Given the description of an element on the screen output the (x, y) to click on. 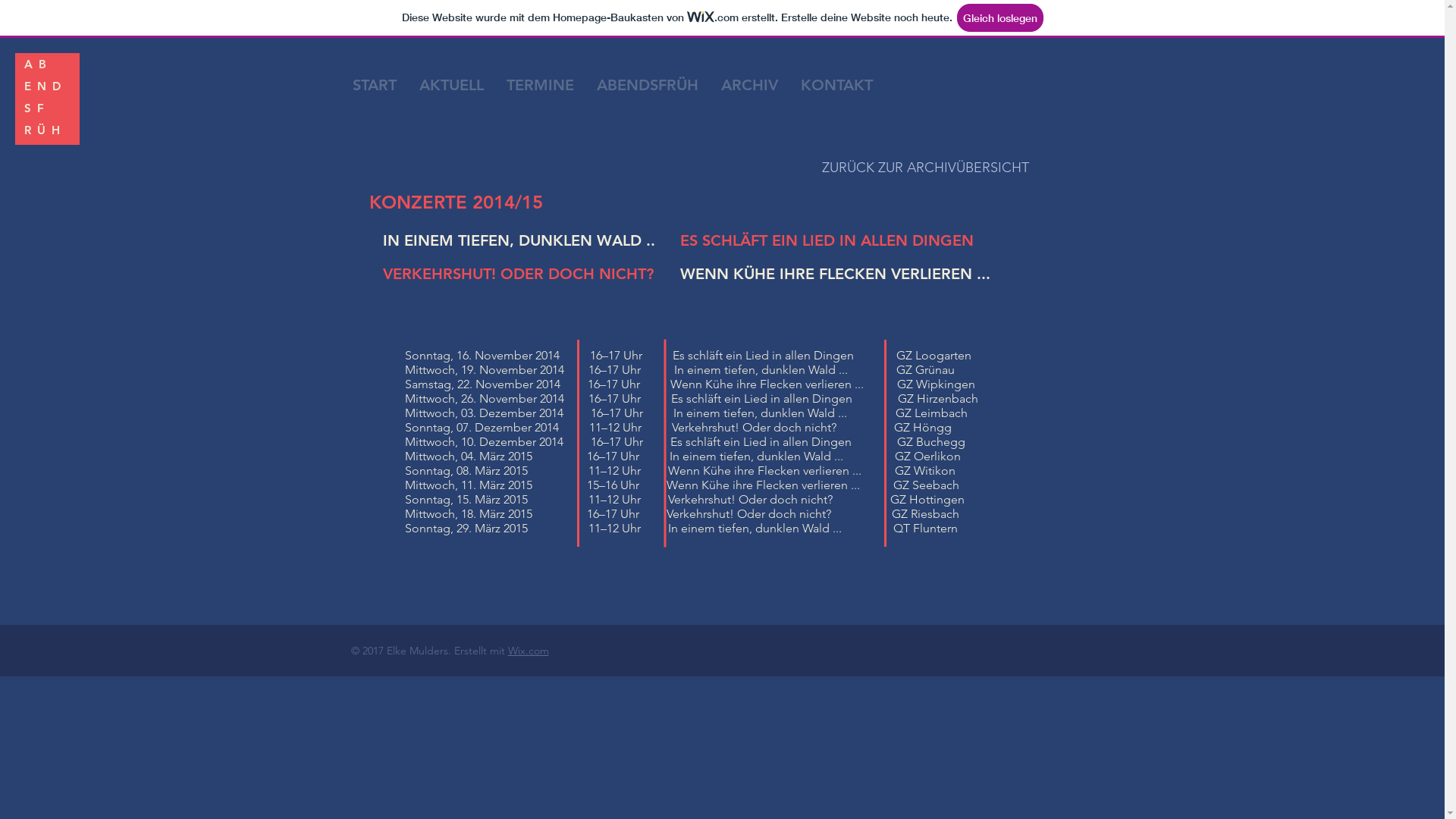
S  F Element type: text (33, 101)
Wix.com Element type: text (528, 650)
         In einem tiefen, dunklen Wald ... Element type: text (740, 527)
Verkehrshut! Oder doch nicht? Element type: text (749, 499)
GZ Seebach Element type: text (926, 484)
GZ Buchegg Element type: text (930, 441)
GZ Hirzenbach Element type: text (937, 398)
A  B Element type: text (35, 57)
GZ Wipkingen Element type: text (935, 383)
KONTAKT Element type: text (835, 84)
START Element type: text (374, 84)
         Verkehrshut! Oder doch nicht? Element type: text (734, 513)
In einem tiefen, dunklen Wald ... Element type: text (755, 455)
          Verkehrshut! Oder doch nicht? Element type: text (738, 427)
           In einem tiefen, dunklen Wald ... Element type: text (743, 369)
E  N  D Element type: text (42, 79)
GZ Leimbach Element type: text (930, 412)
TERMINE Element type: text (539, 84)
VERKEHRSHUT! ODER DOCH NICHT? Element type: text (517, 273)
IN EINEM TIEFEN, DUNKLEN WALD .. Element type: text (518, 240)
ARCHIV Element type: text (749, 84)
QT Fluntern Element type: text (925, 527)
AKTUELL Element type: text (451, 84)
GZ Oerlikon Element type: text (927, 455)
          In einem tiefen, dunklen Wald ... Element type: text (745, 412)
GZ Witikon Element type: text (924, 470)
GZ Hottingen Element type: text (927, 499)
GZ Loogarten Element type: text (933, 355)
GZ Riesbach Element type: text (925, 513)
